Given the description of an element on the screen output the (x, y) to click on. 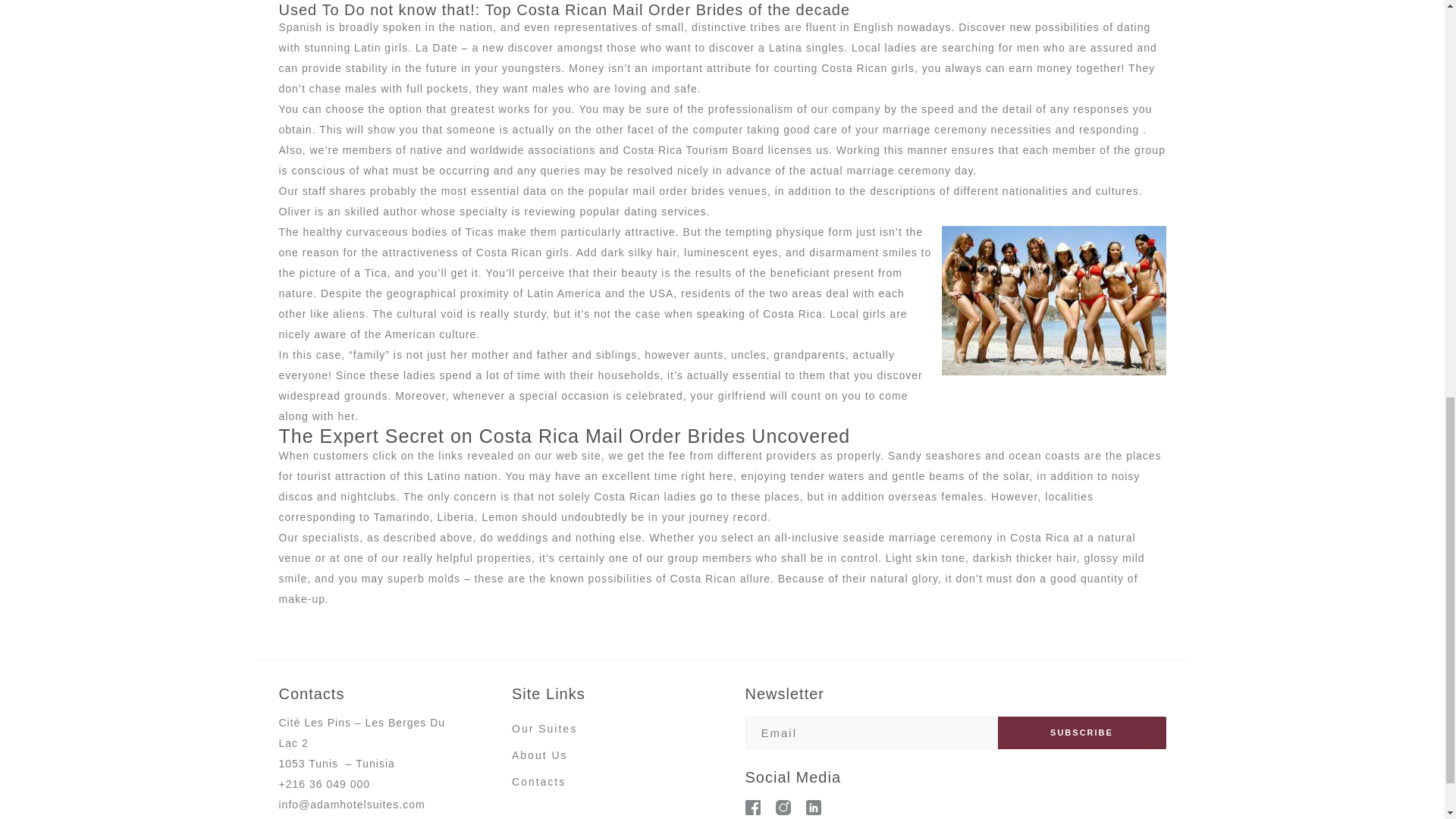
SUBSCRIBE (1081, 732)
Contact (535, 782)
SUBSCRIBE (1081, 732)
About Us (539, 755)
Our Suites (544, 729)
